Given the description of an element on the screen output the (x, y) to click on. 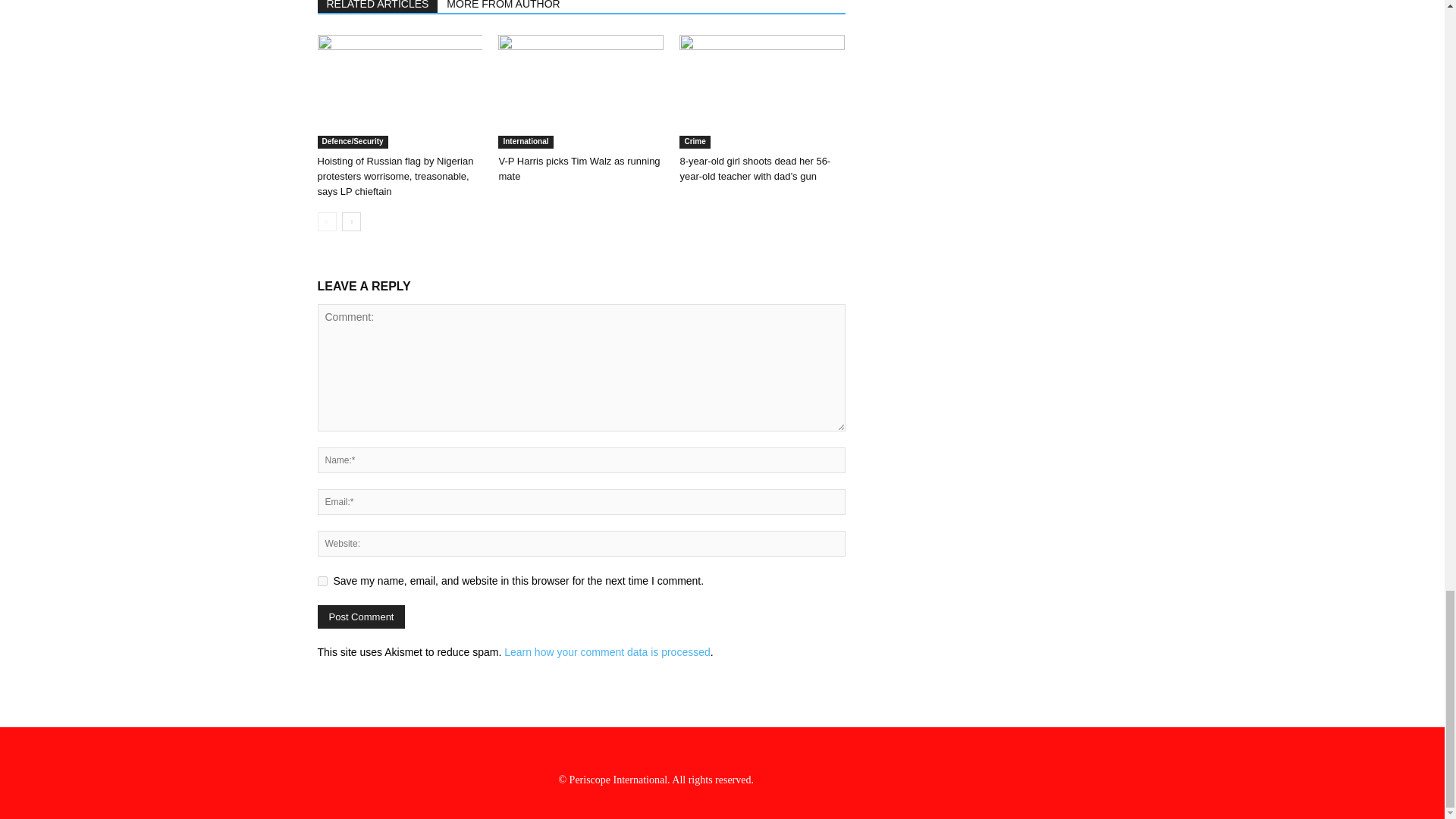
Post Comment (360, 616)
yes (321, 581)
